Given the description of an element on the screen output the (x, y) to click on. 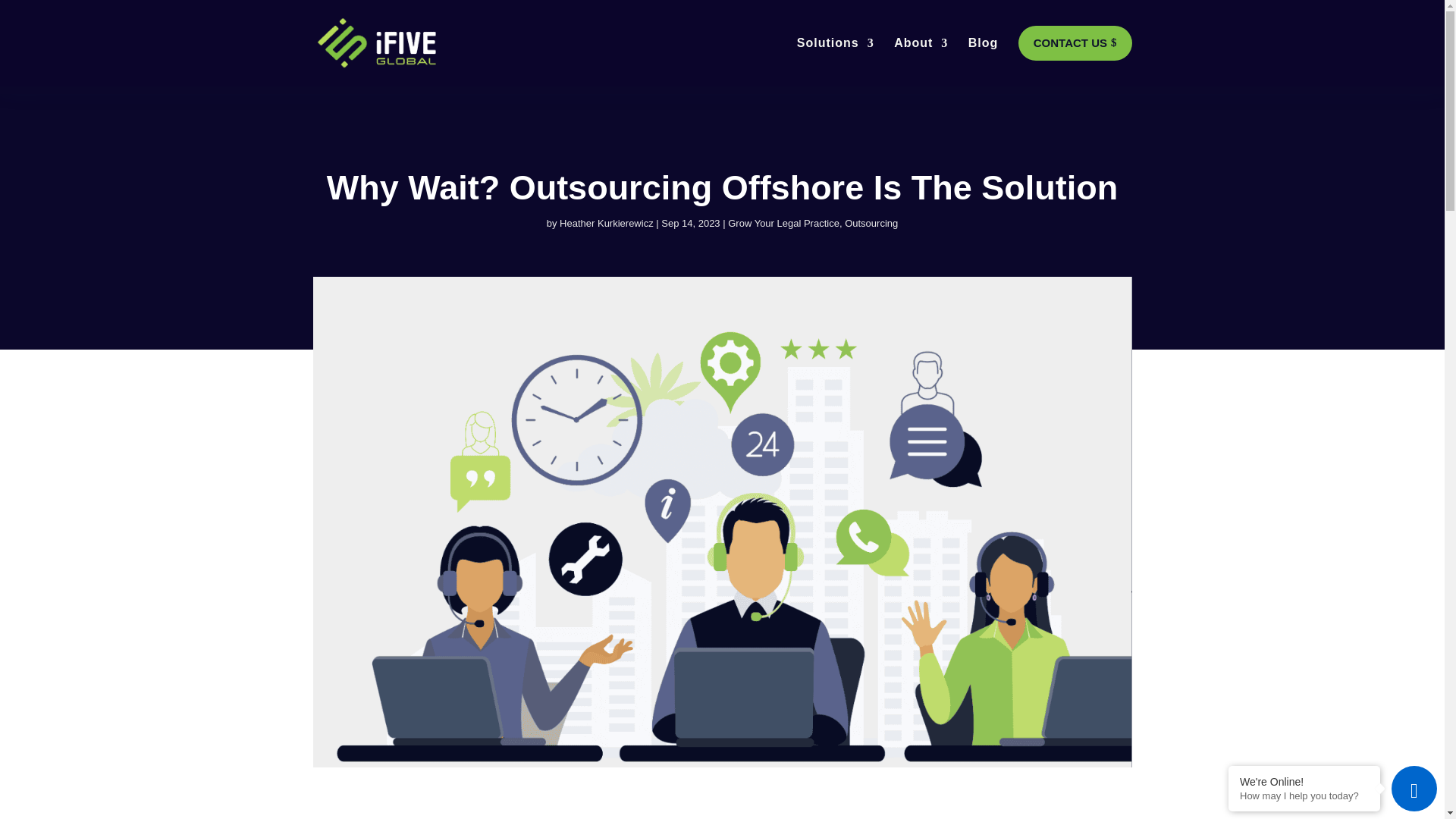
Outsourcing (871, 223)
CONTACT US (1074, 42)
Posts by Heather Kurkierewicz (606, 223)
About (920, 59)
Solutions (835, 59)
Grow Your Legal Practice (784, 223)
We're Online! (1304, 781)
How may I help you today? (1304, 795)
Heather Kurkierewicz (606, 223)
